Given the description of an element on the screen output the (x, y) to click on. 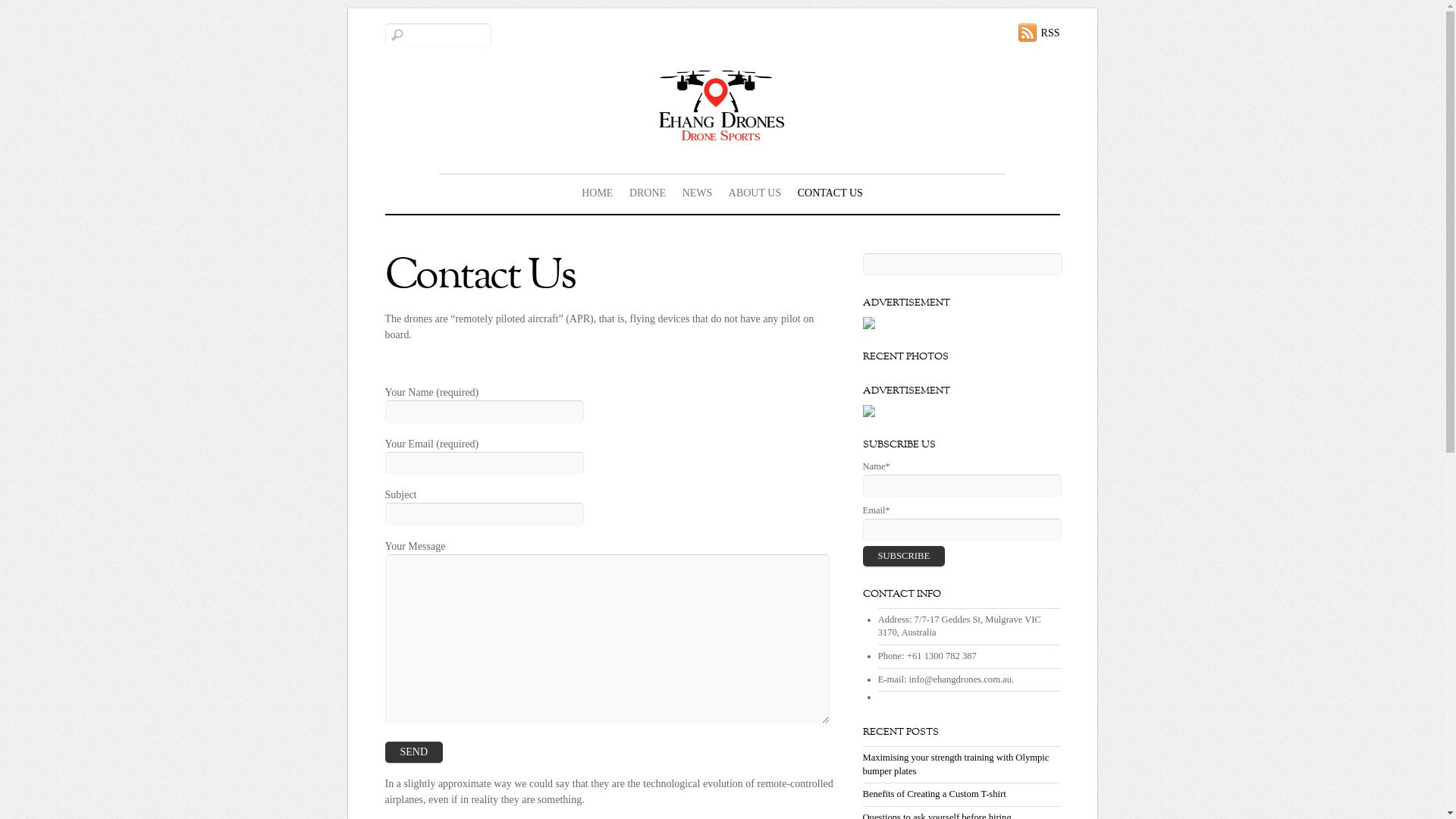
CONTACT US Element type: text (829, 193)
Search Element type: hover (438, 34)
HOME Element type: text (596, 193)
DRONE Element type: text (647, 193)
RSS Element type: text (1039, 32)
Maximising your strength training with Olympic bumper plates Element type: text (955, 764)
Benefits of Creating a Custom T-shirt Element type: text (934, 793)
Subscribe Element type: text (903, 556)
ABOUT US Element type: text (754, 193)
Ehang Drones Element type: hover (721, 104)
Ehang Drones Element type: hover (721, 136)
Search Element type: hover (962, 264)
Send Element type: text (414, 751)
NEWS Element type: text (697, 193)
